Given the description of an element on the screen output the (x, y) to click on. 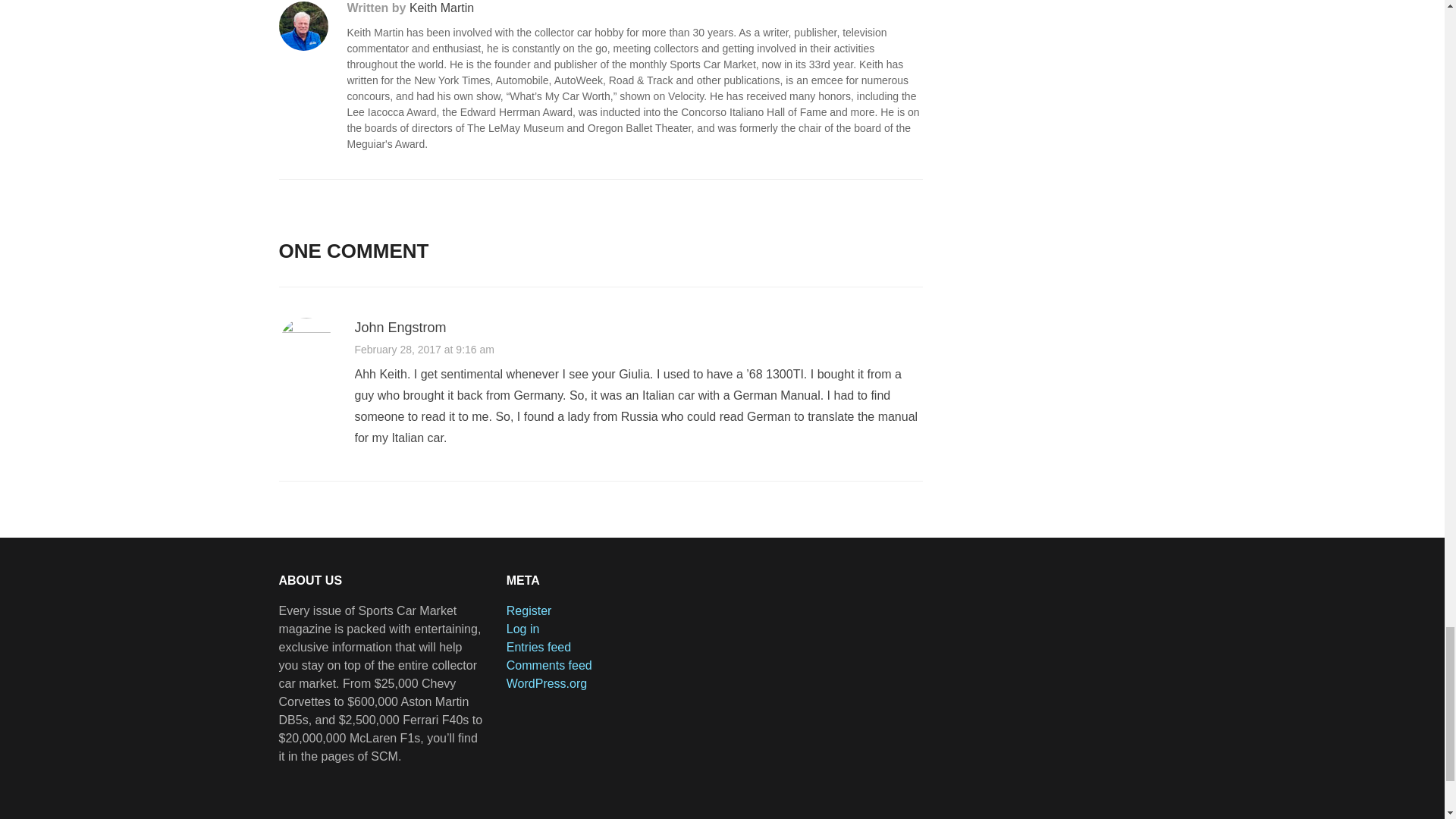
Posts by Keith Martin (441, 7)
